Given the description of an element on the screen output the (x, y) to click on. 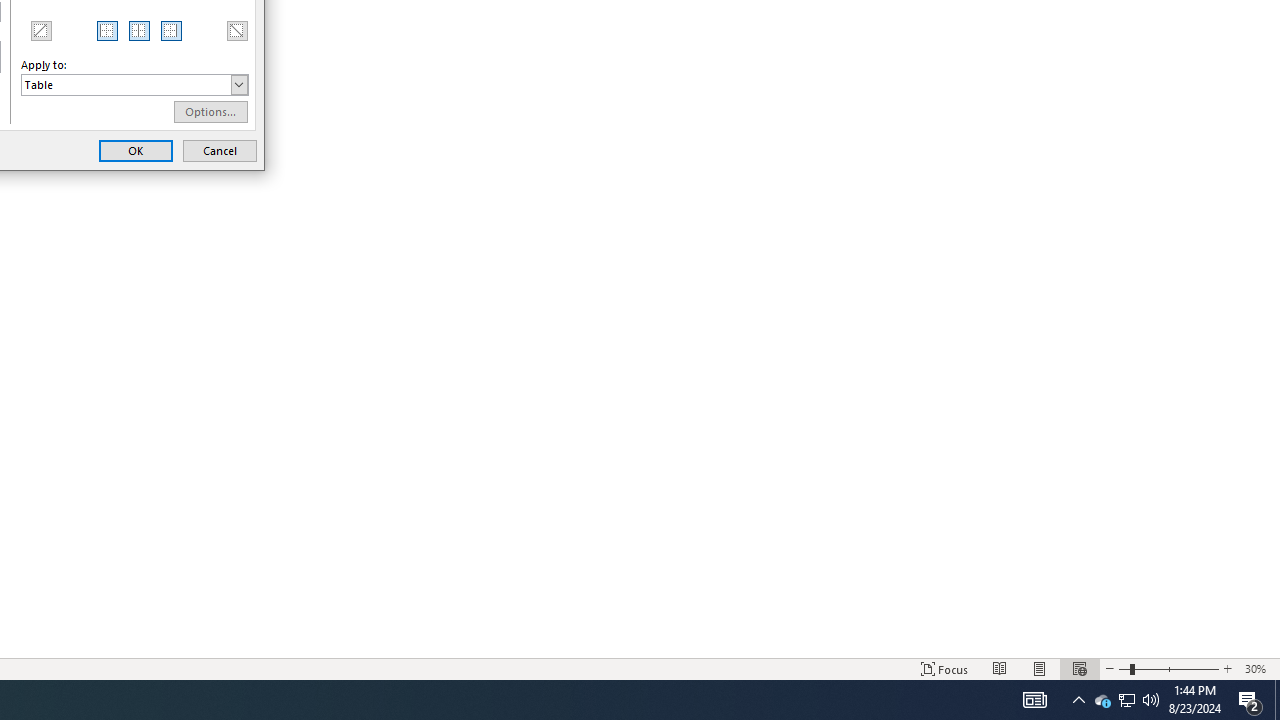
Zoom 30% (1258, 668)
Apply to: (134, 84)
MSO Generic Control Container (107, 30)
Left Border (107, 30)
Diagonal Up Border (1126, 699)
Action Center, 2 new notifications (40, 30)
Web Layout (1250, 699)
User Promoted Notification Area (1079, 668)
Show desktop (1126, 699)
Zoom Out (1102, 699)
Print Layout (1277, 699)
Read Mode (1124, 668)
Diagonal Down Border (1039, 668)
